Given the description of an element on the screen output the (x, y) to click on. 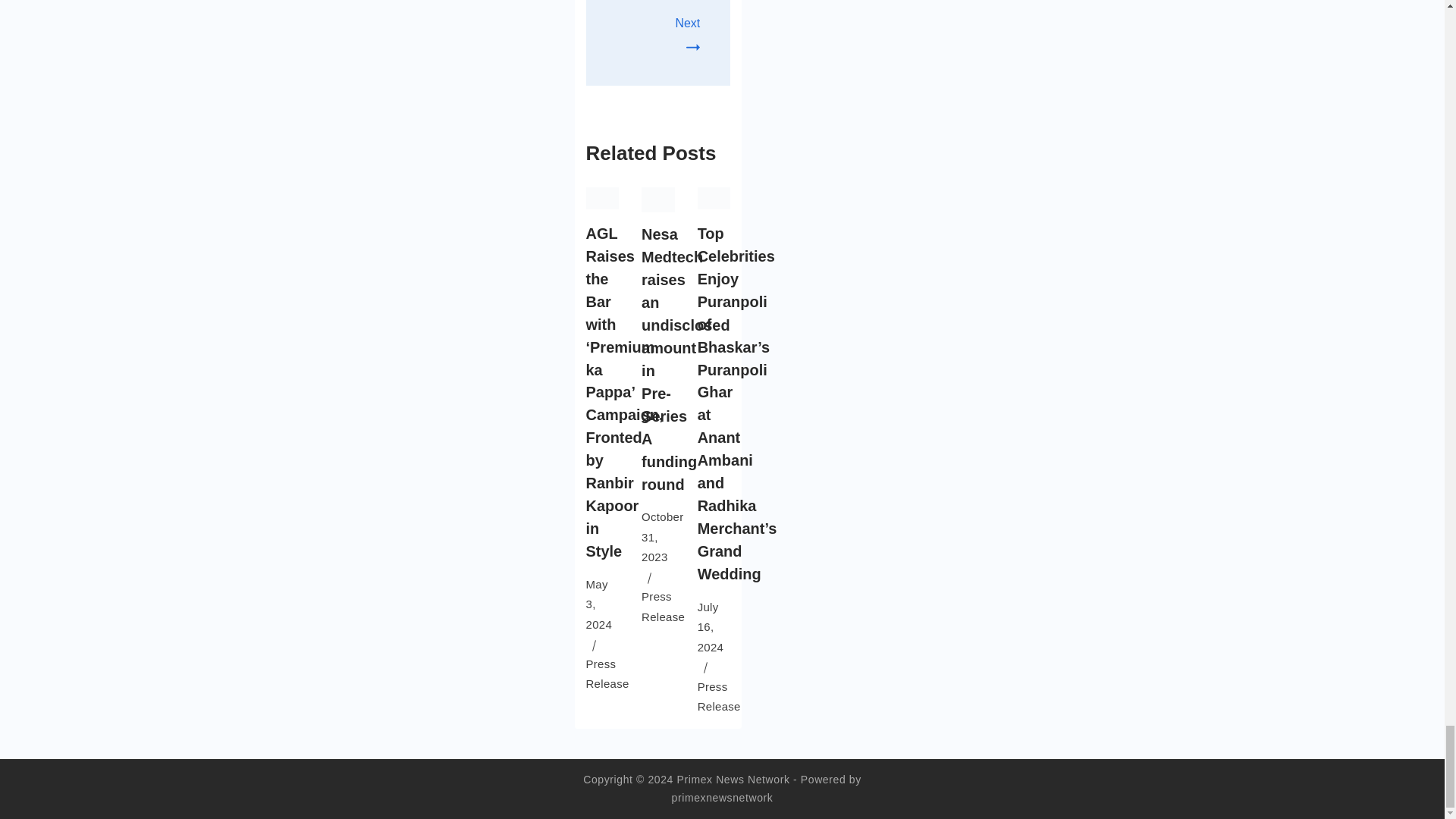
Press Release (606, 673)
Press Release (663, 605)
